Given the description of an element on the screen output the (x, y) to click on. 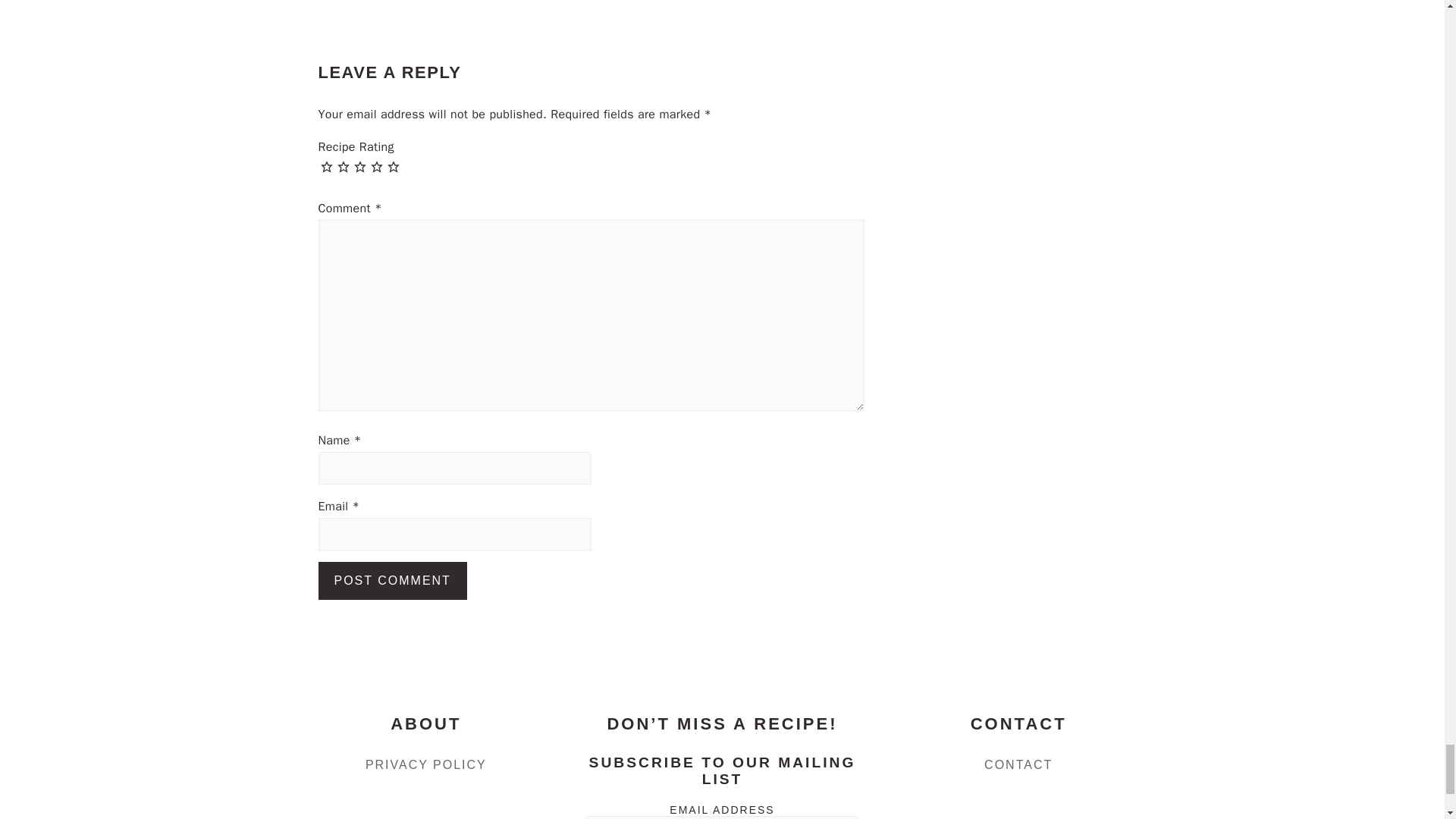
Post Comment (392, 580)
